Given the description of an element on the screen output the (x, y) to click on. 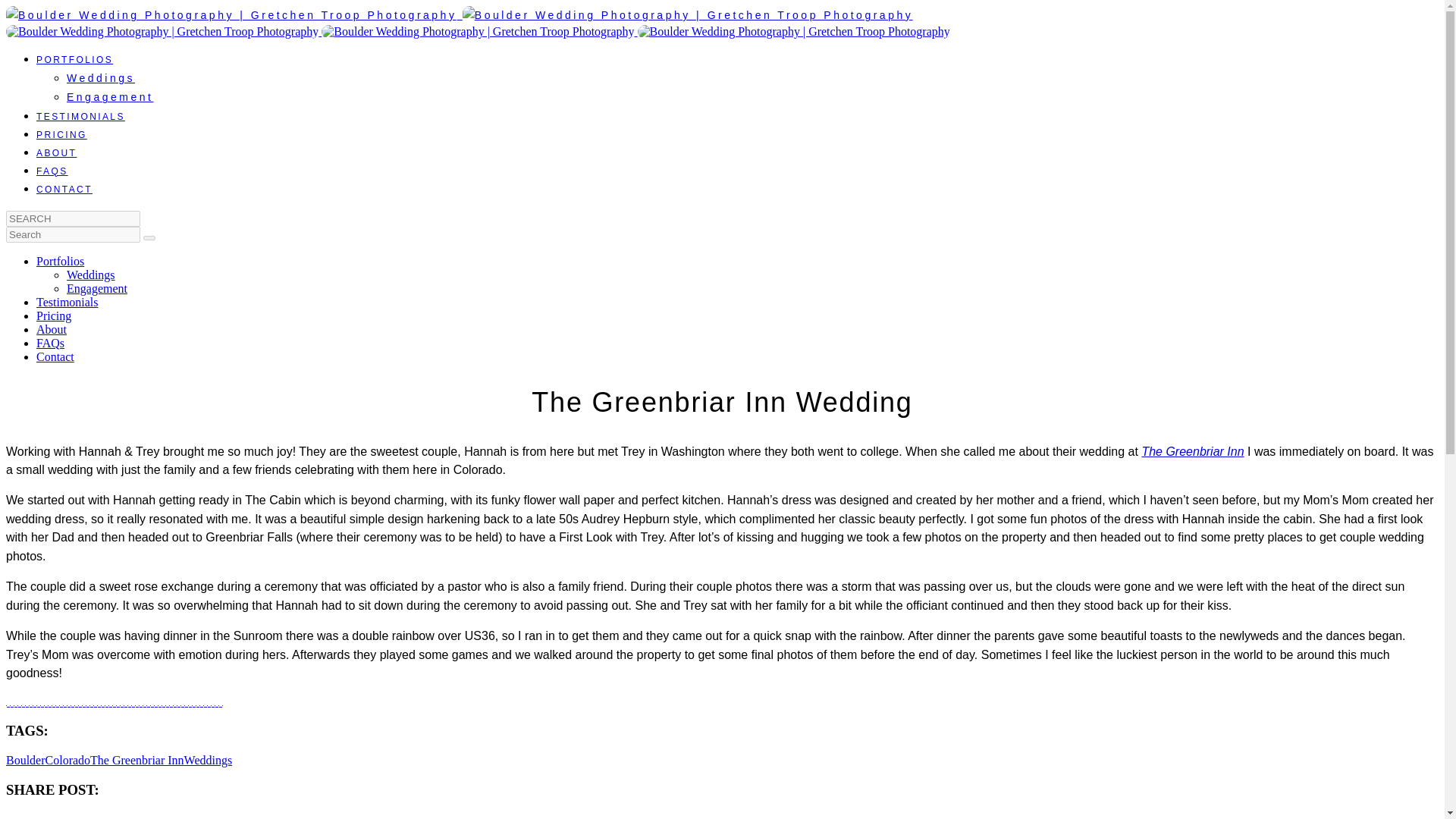
About (51, 328)
Weddings (90, 274)
PRICING (61, 134)
PORTFOLIOS (74, 59)
Contact (55, 356)
Weddings (100, 78)
Pricing (53, 315)
Testimonials (67, 301)
ABOUT (56, 153)
FAQS (52, 171)
